Given the description of an element on the screen output the (x, y) to click on. 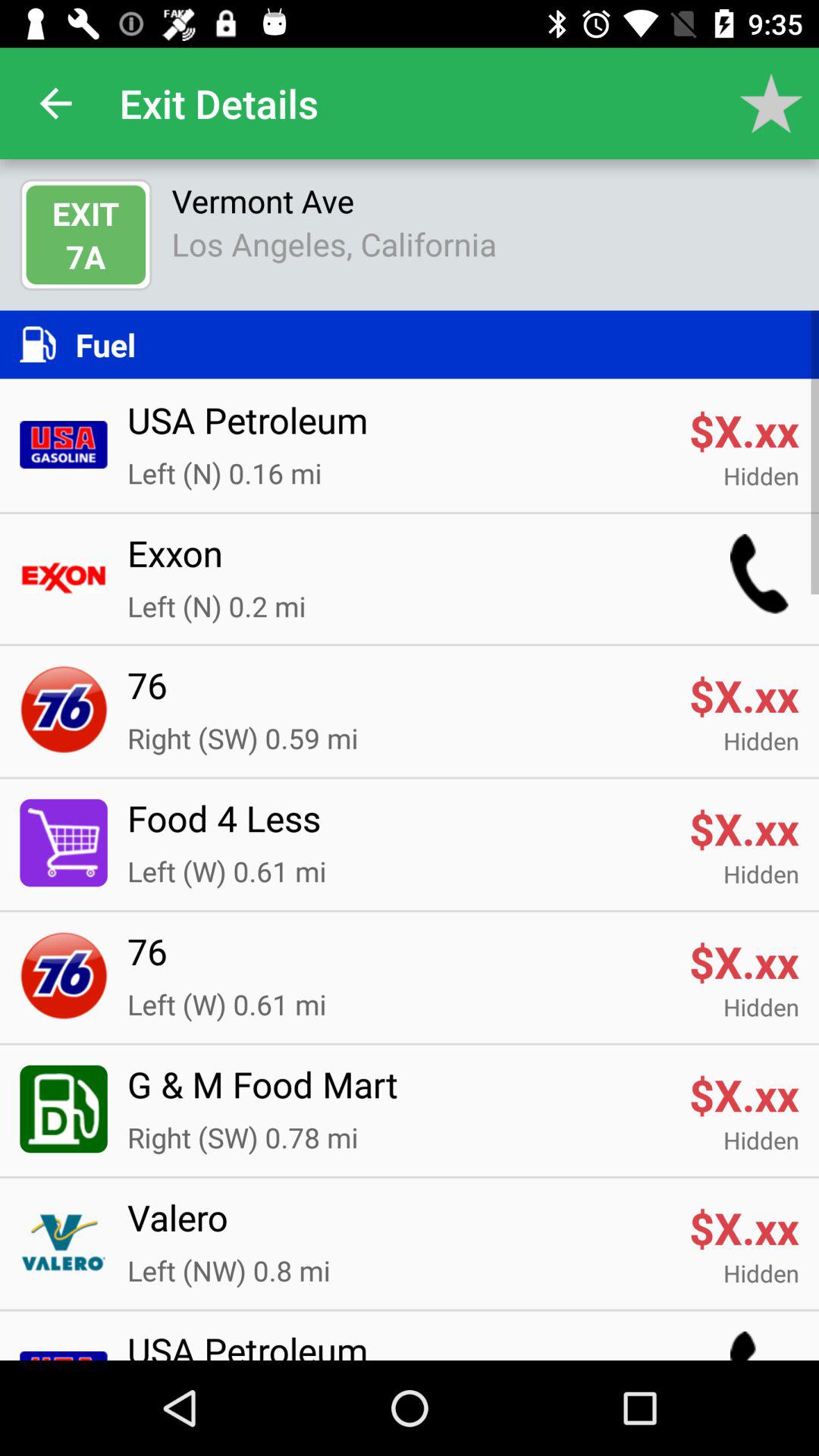
jump to the fuel icon (437, 344)
